Given the description of an element on the screen output the (x, y) to click on. 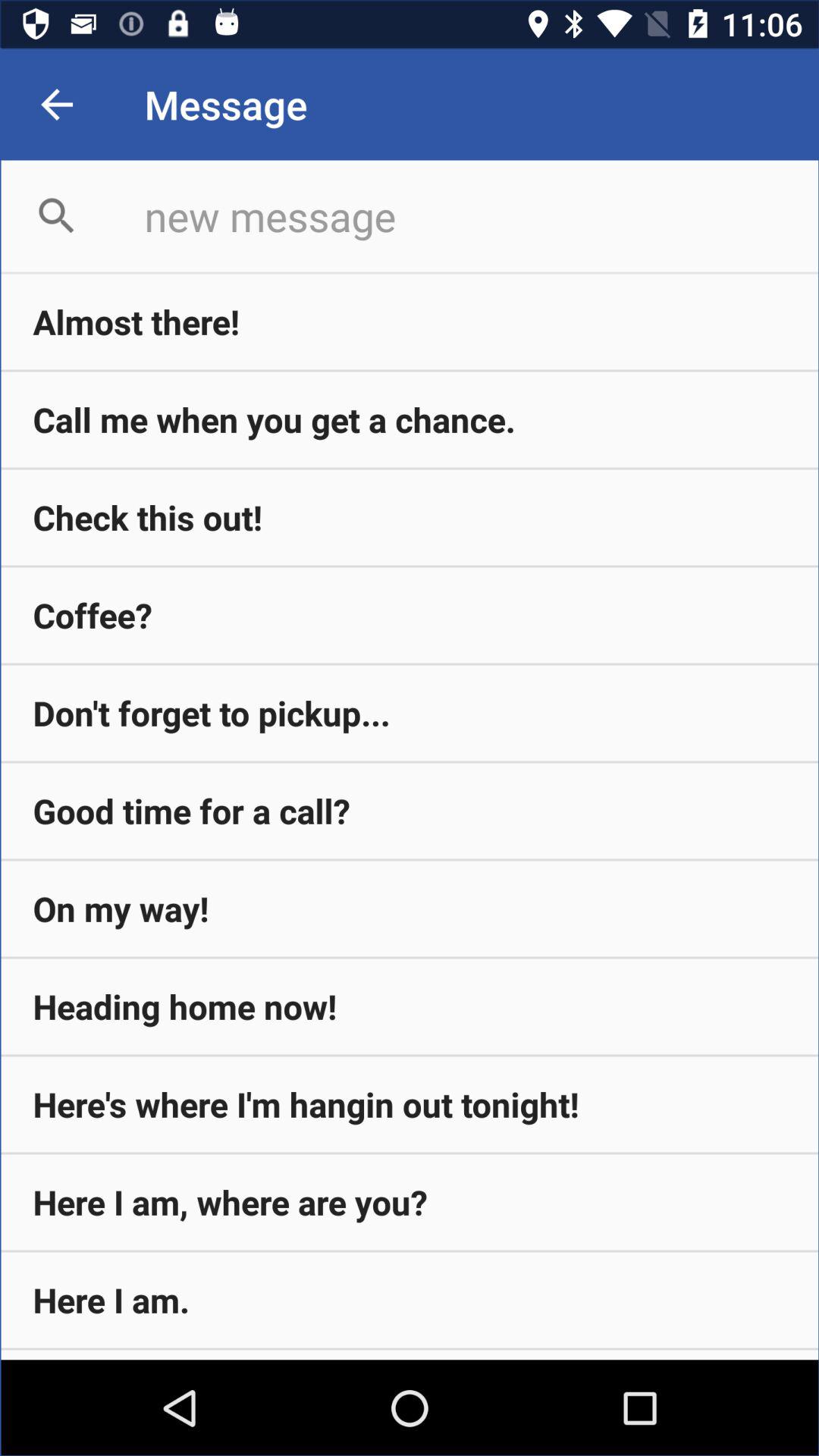
launch the call me when (409, 419)
